Given the description of an element on the screen output the (x, y) to click on. 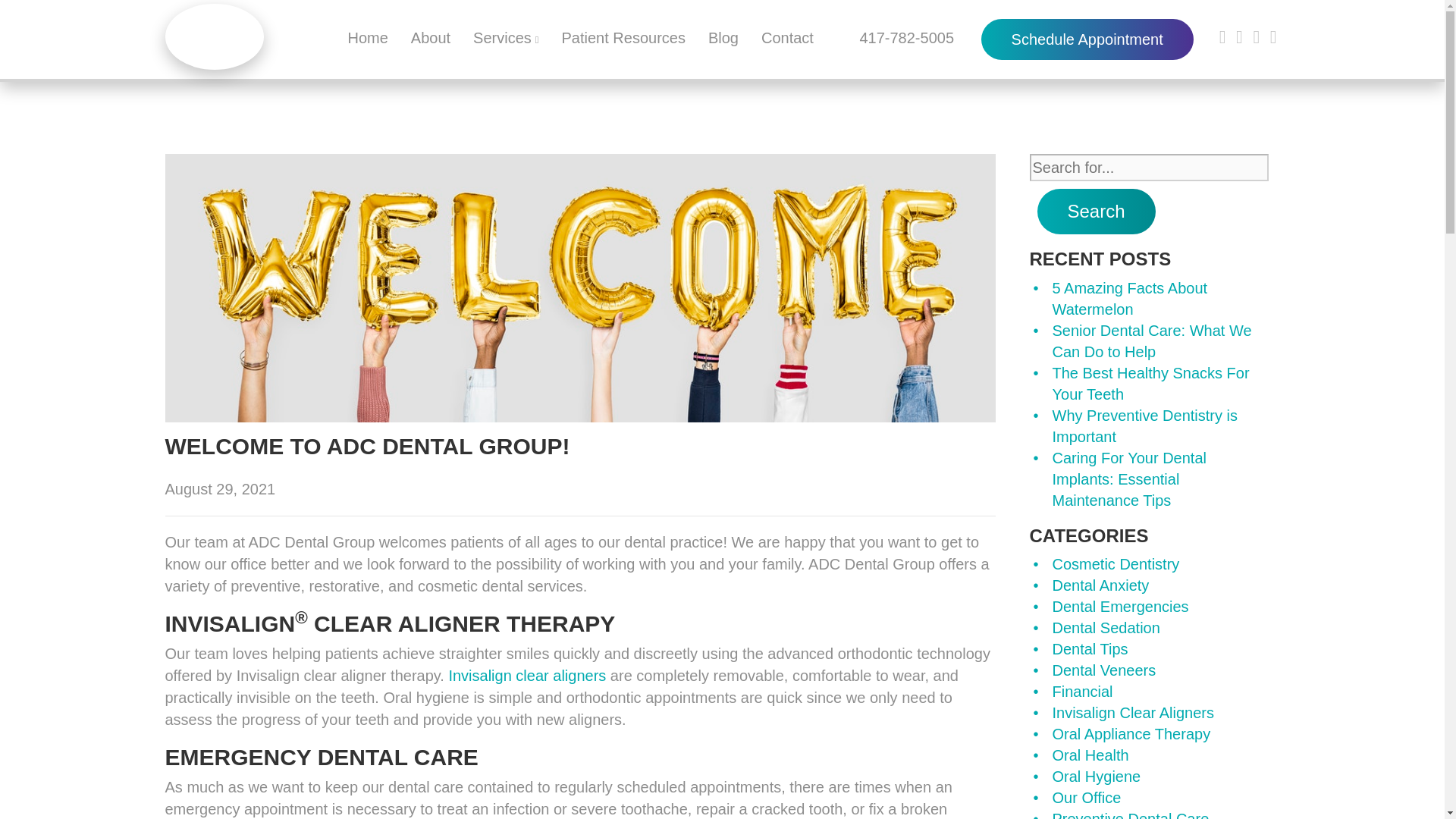
Contact (787, 37)
Why Preventive Dentistry is Important (1145, 426)
417-782-5005 (902, 37)
About (429, 37)
5 Amazing Facts About Watermelon (1130, 298)
Invisalign clear aligners (526, 675)
The Best Healthy Snacks For Your Teeth (1150, 383)
Home (367, 37)
Schedule Appointment (1087, 38)
Senior Dental Care: What We Can Do to Help (1152, 341)
